Given the description of an element on the screen output the (x, y) to click on. 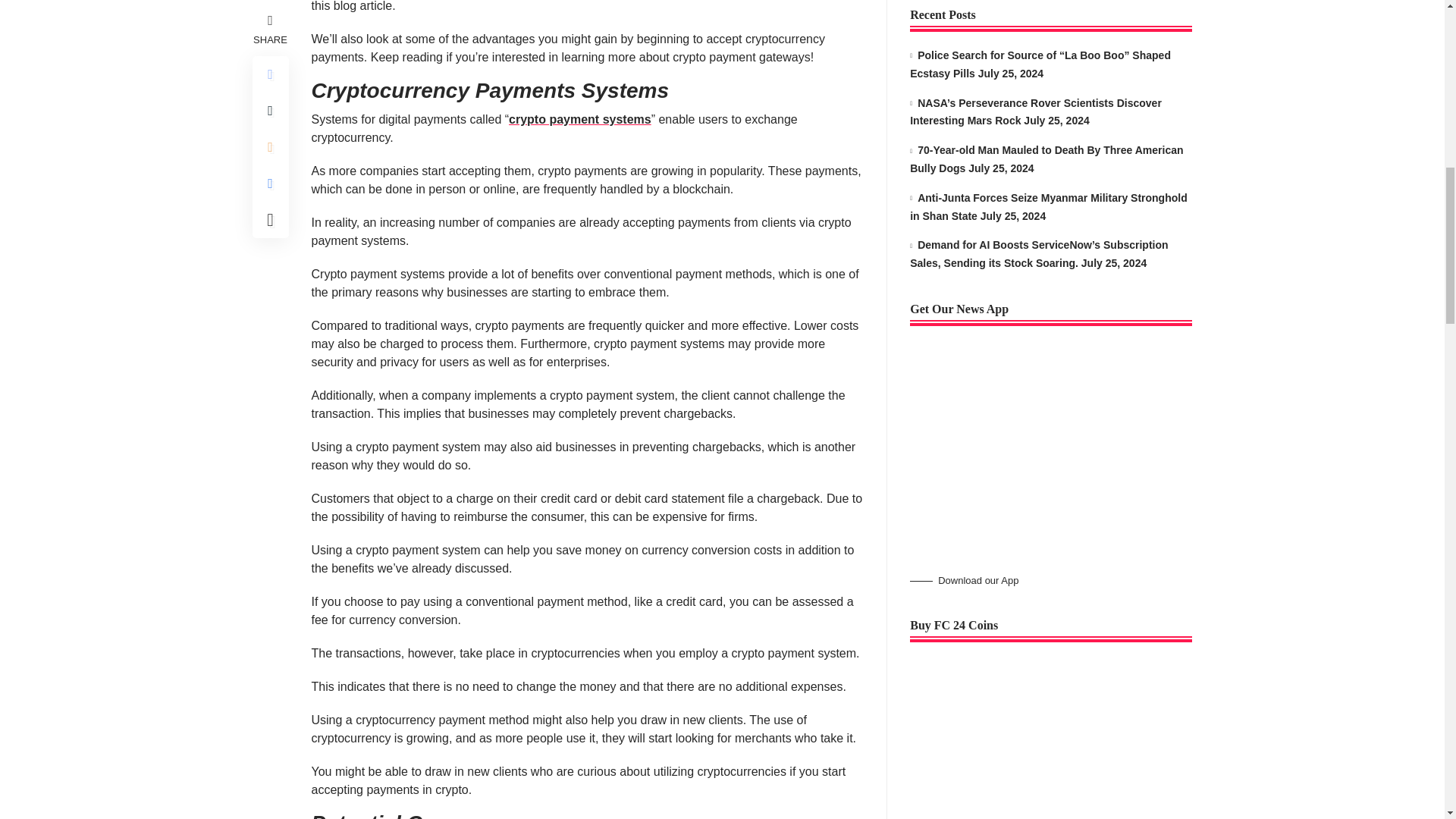
Advertisement (1023, 36)
Buy FC24 Coins (1023, 255)
